Given the description of an element on the screen output the (x, y) to click on. 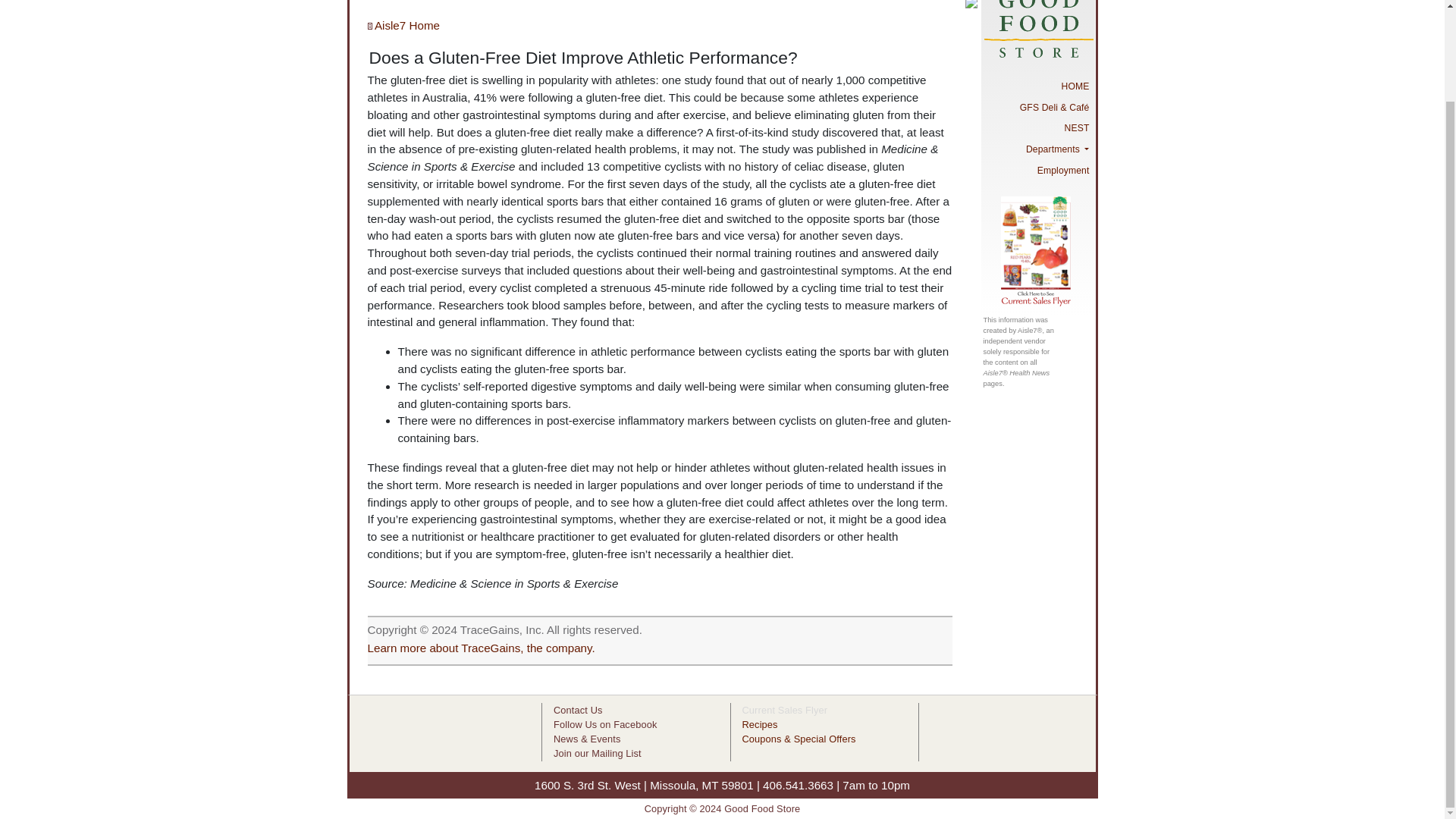
Contact Us (577, 709)
Join Us on Facebook (604, 724)
Join our Mailing List (597, 753)
Recipes (759, 724)
Employment (1037, 169)
Learn more about TraceGains, the company. (480, 647)
NEST (1037, 128)
HOME (1037, 86)
Follow Us on Facebook (604, 724)
Aisle7 Home (402, 24)
